Given the description of an element on the screen output the (x, y) to click on. 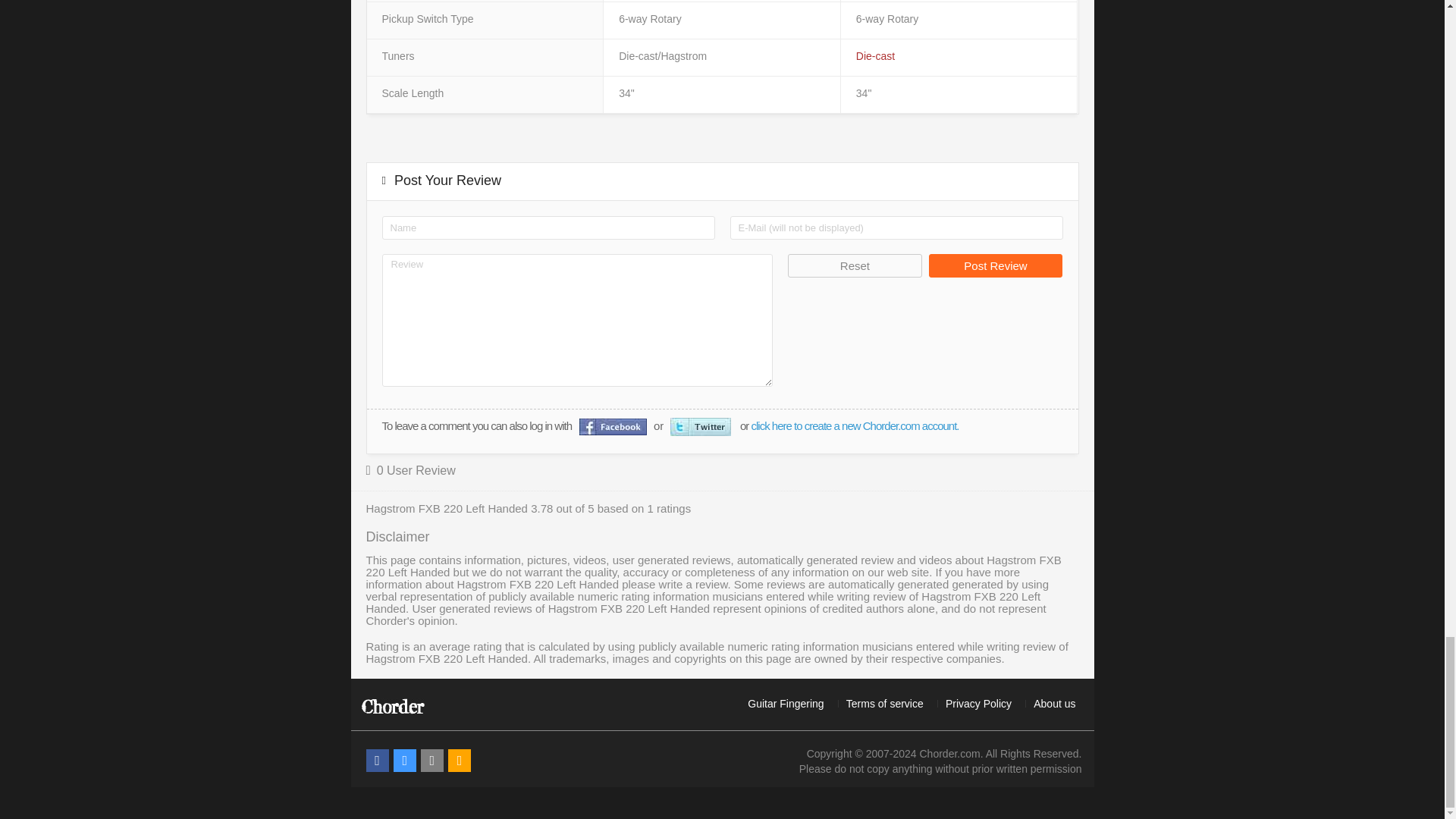
Post Review (995, 265)
